Given the description of an element on the screen output the (x, y) to click on. 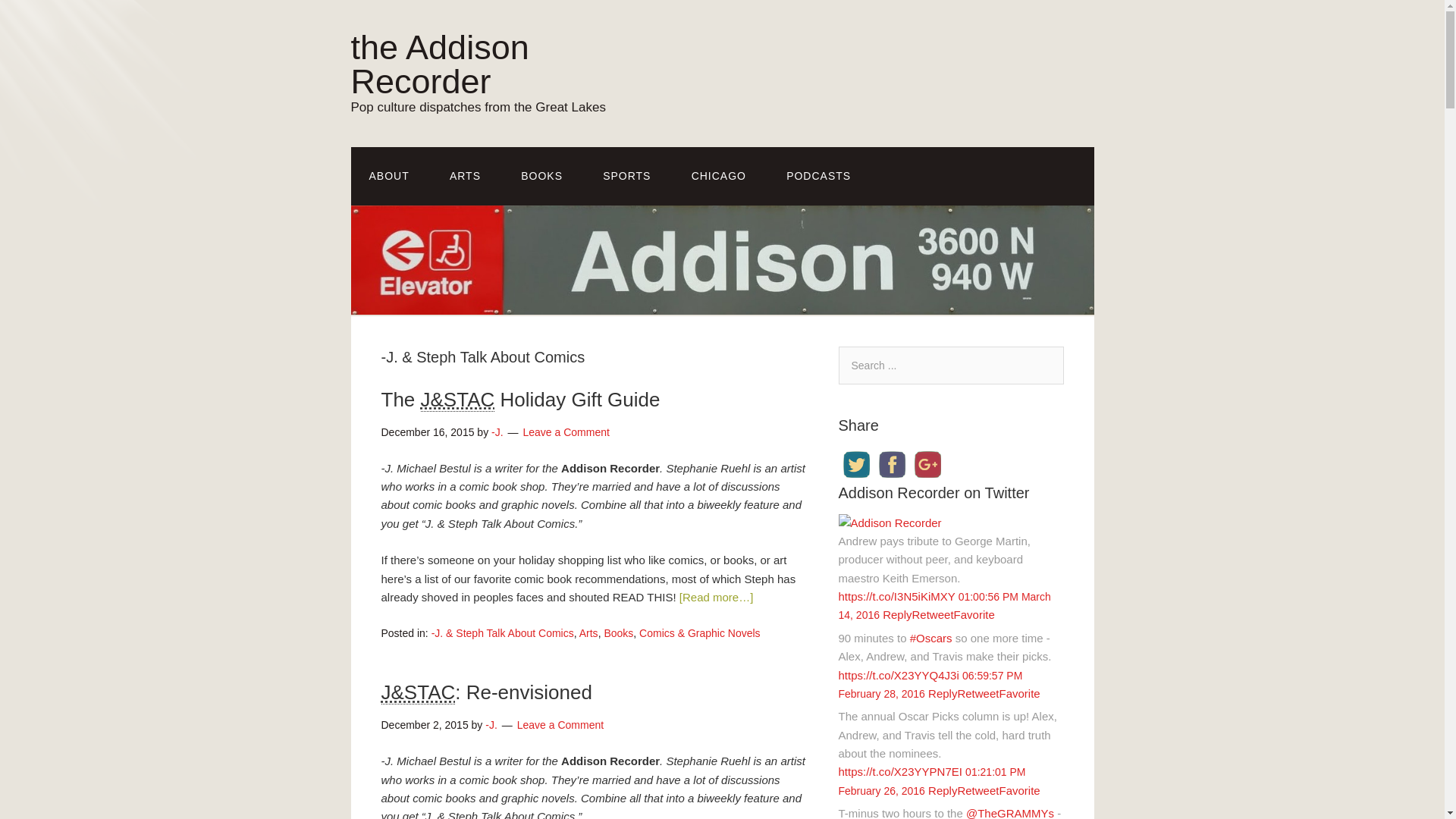
Posts by -J. (497, 431)
Jay and Steph Talk About Comics (417, 692)
Posts by -J. (490, 725)
ARTS (464, 176)
BOOKS (541, 176)
Jay and Steph Talk About Comics (457, 399)
CHICAGO (718, 176)
PODCASTS (818, 176)
Wednesday, December 2, 2015, 8:30 am (423, 725)
-J. (497, 431)
ABOUT (388, 176)
the Addison Recorder (439, 63)
the Addison Recorder (439, 63)
